Given the description of an element on the screen output the (x, y) to click on. 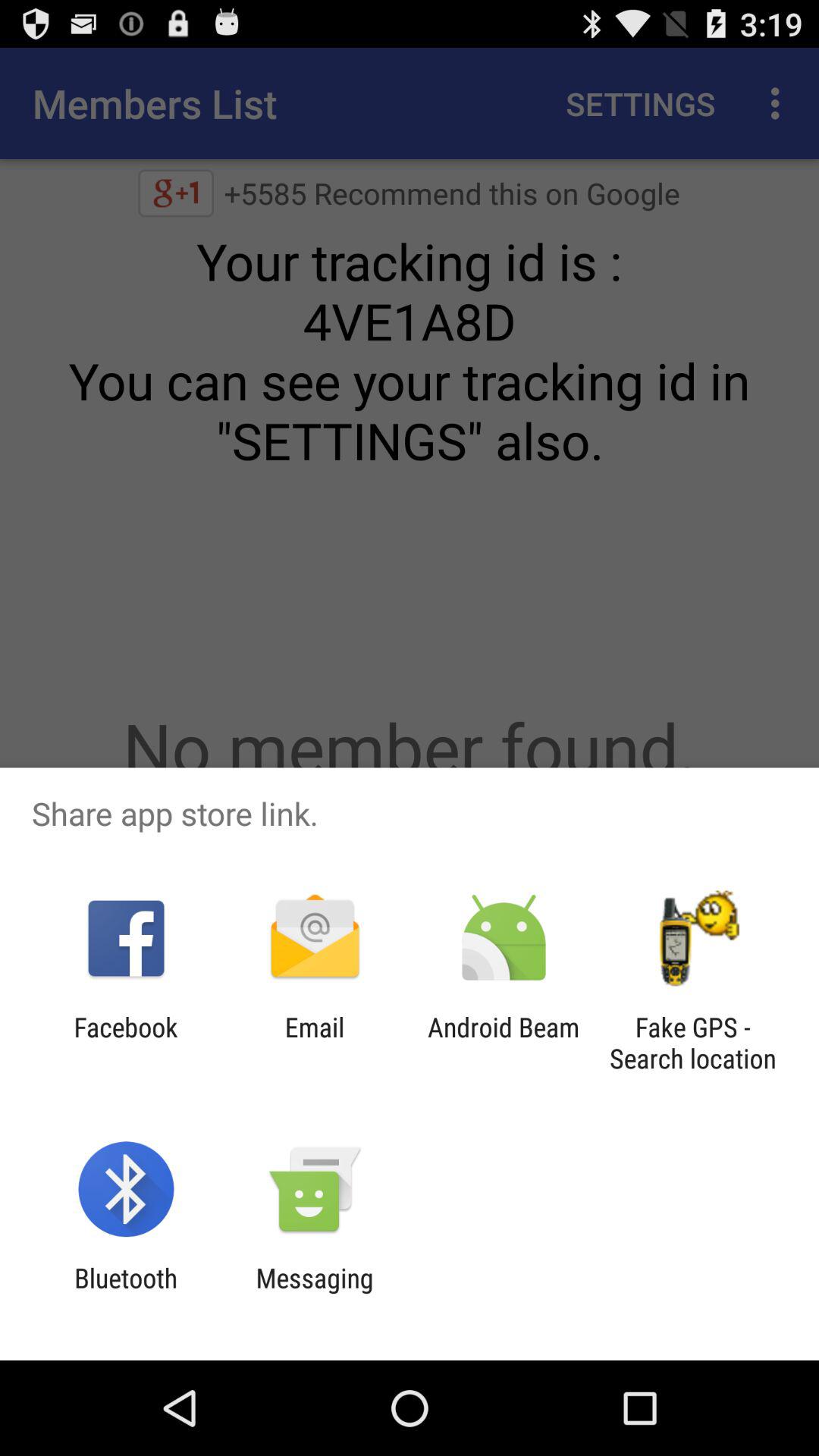
swipe to the messaging (314, 1293)
